Given the description of an element on the screen output the (x, y) to click on. 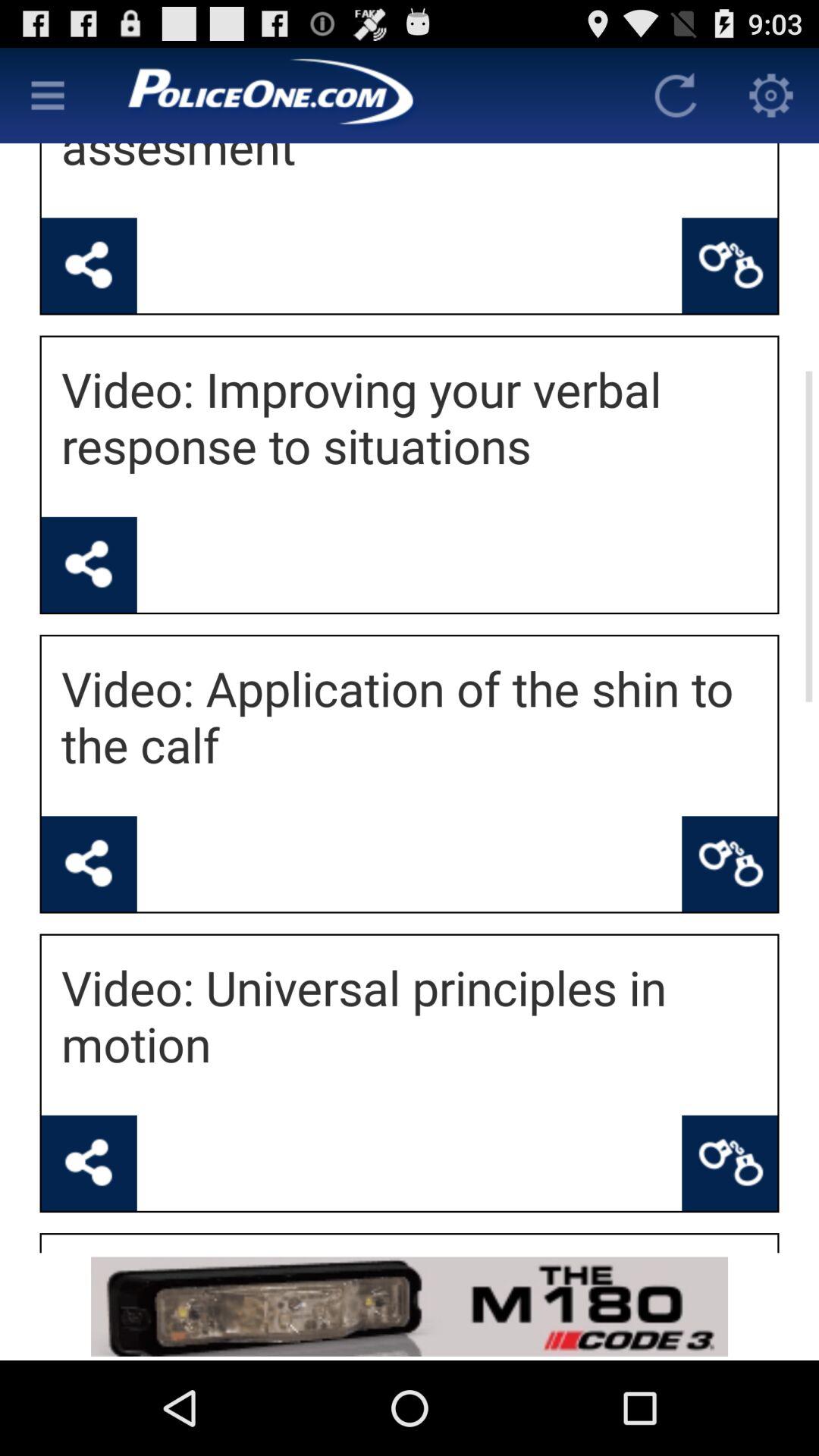
play the video (89, 863)
